Given the description of an element on the screen output the (x, y) to click on. 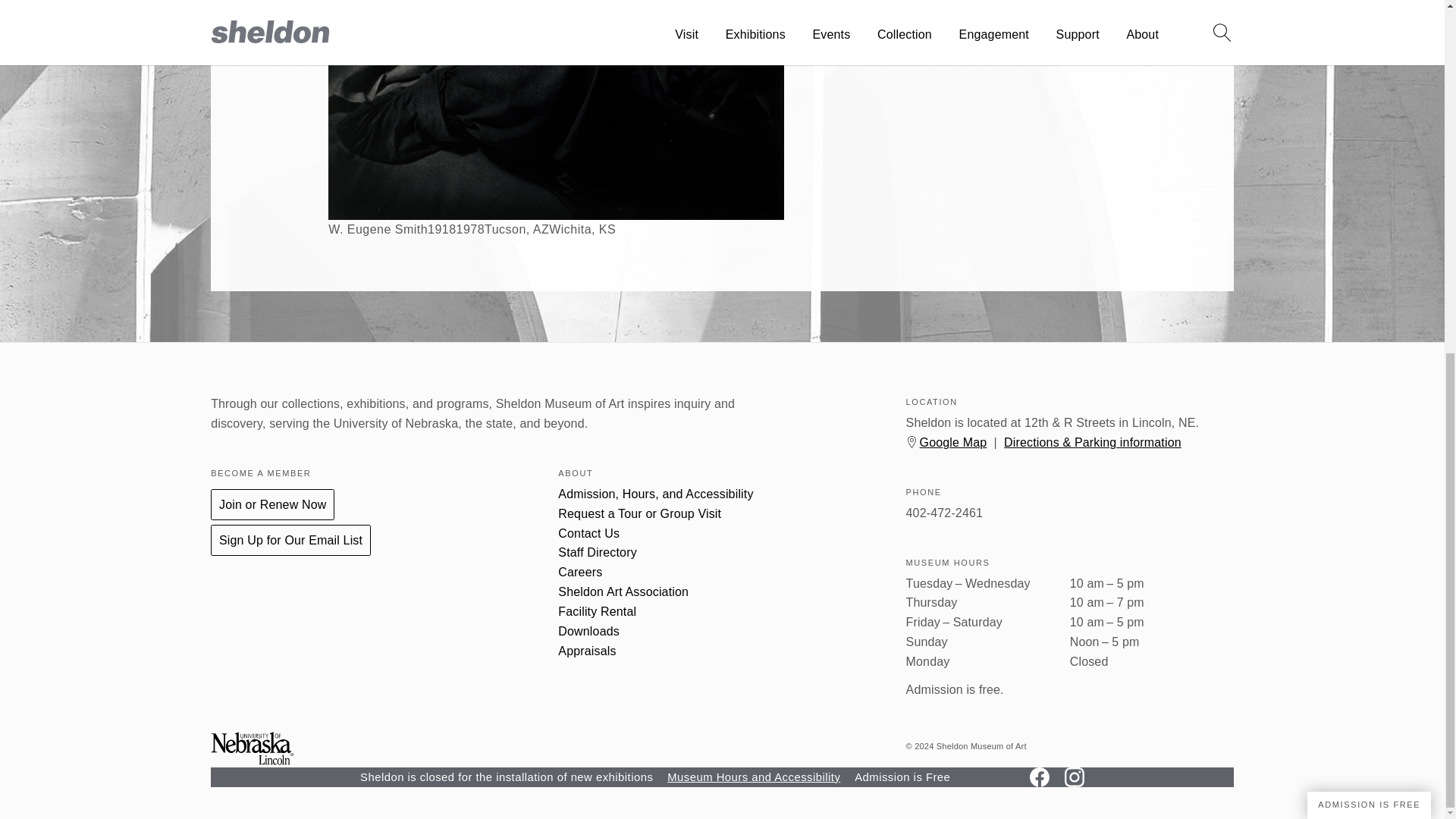
Appraisals (586, 651)
Contact Us (588, 533)
Staff Directory (596, 552)
Sign Up for Our Email List (291, 540)
Request a Tour or Group Visit (638, 513)
Facility Rental (596, 612)
Request a Tour or Group Visit (638, 513)
Downloads (588, 631)
Admission, Hours, and Accessibility (654, 494)
Careers (579, 572)
Google Map (953, 441)
Museum Hours and Accessibility (753, 776)
Join or Renew Now (272, 504)
Admission and Hours (654, 494)
Sheldon Art Association (622, 591)
